Given the description of an element on the screen output the (x, y) to click on. 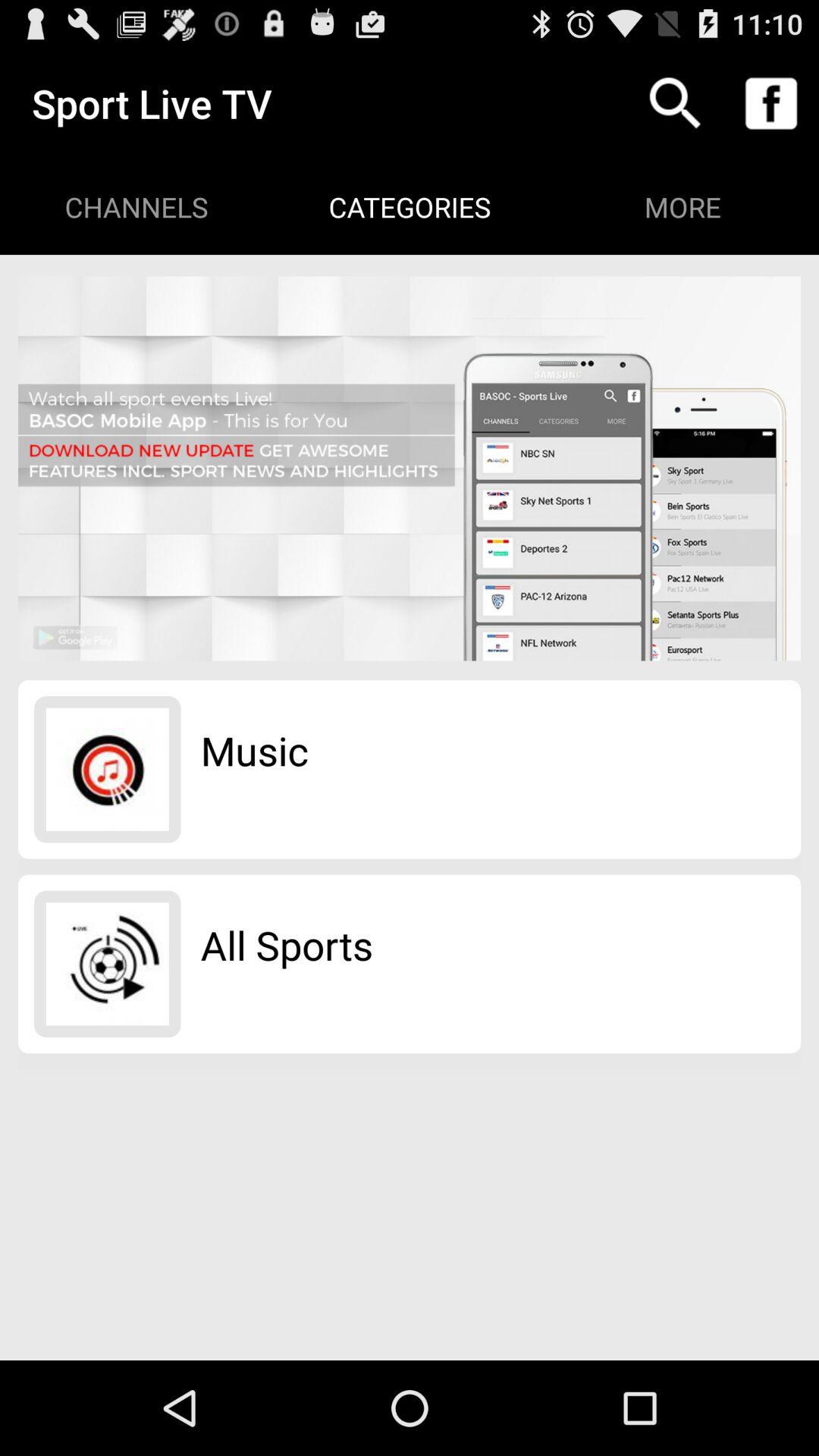
choose the icon below channels (409, 468)
